Given the description of an element on the screen output the (x, y) to click on. 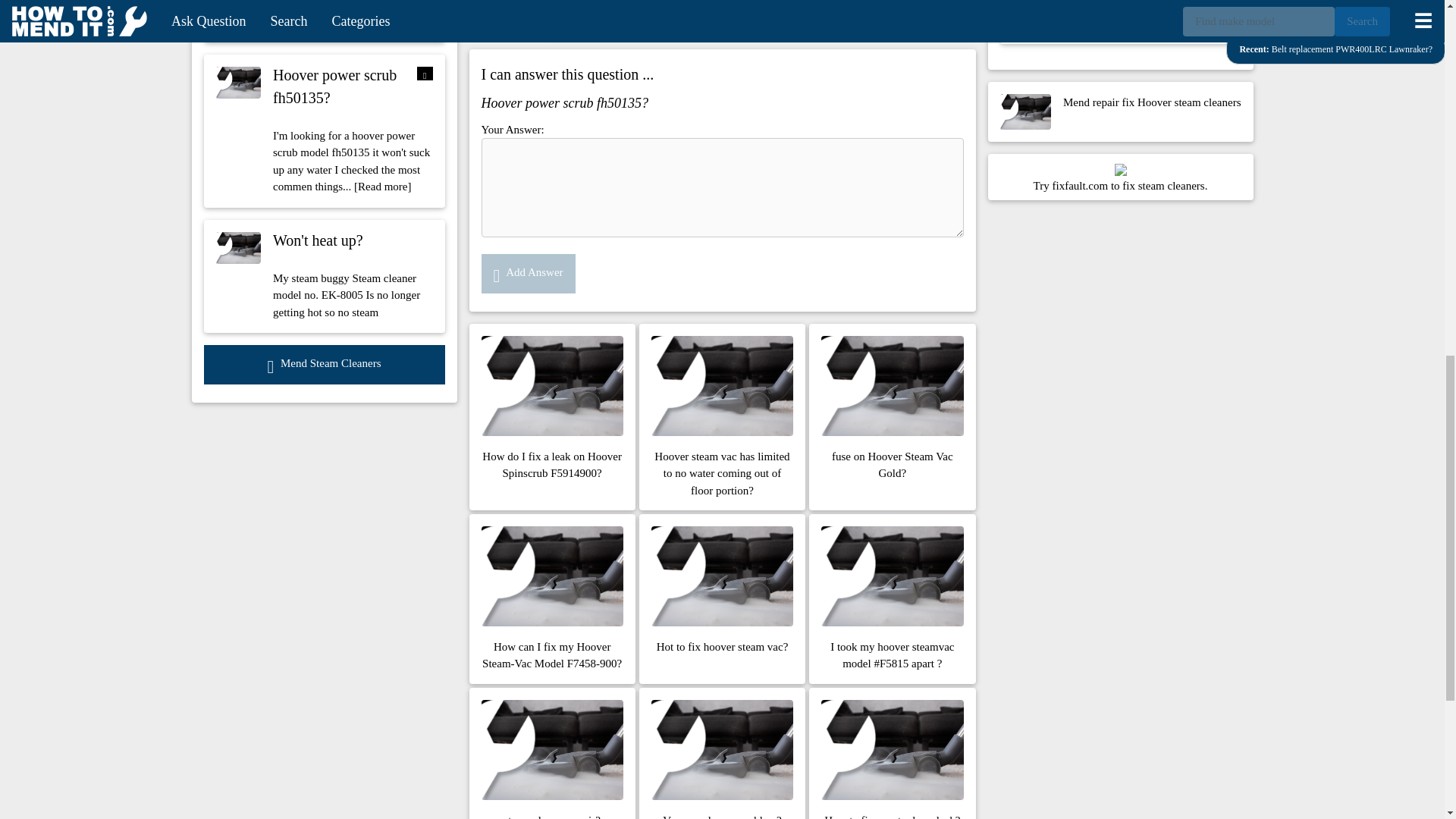
fuse on Hoover Steam Vac Gold? (892, 416)
Add Answer (527, 273)
Mend Steam Cleaners (323, 364)
How can I fix my Hoover Steam-Vac Model F7458-900? (551, 598)
Click here for Hoover Model Checked (658, 6)
How do I fix a leak on Hoover Spinscrub F5914900? (551, 416)
